Given the description of an element on the screen output the (x, y) to click on. 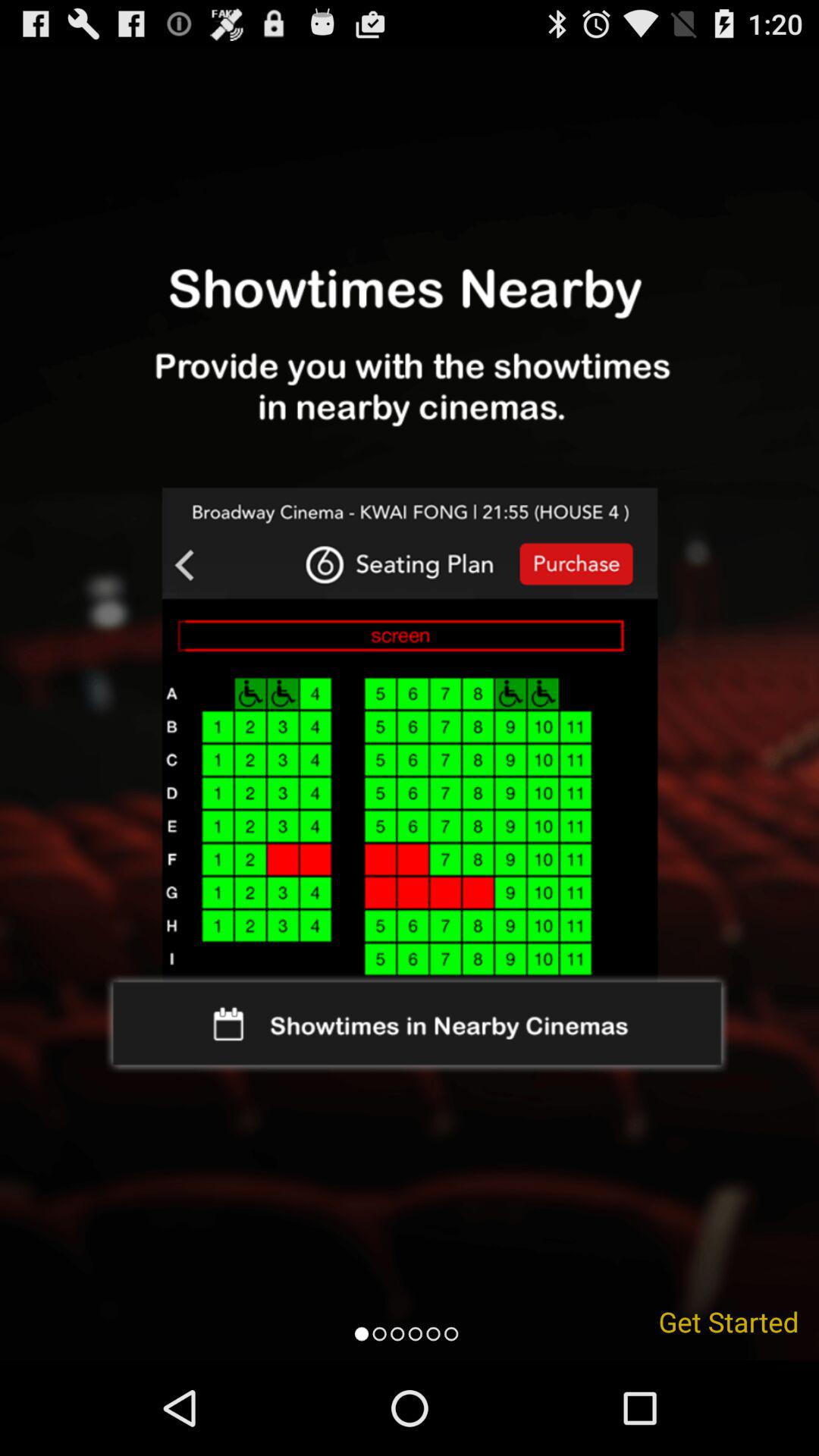
open the get started item (728, 1321)
